Given the description of an element on the screen output the (x, y) to click on. 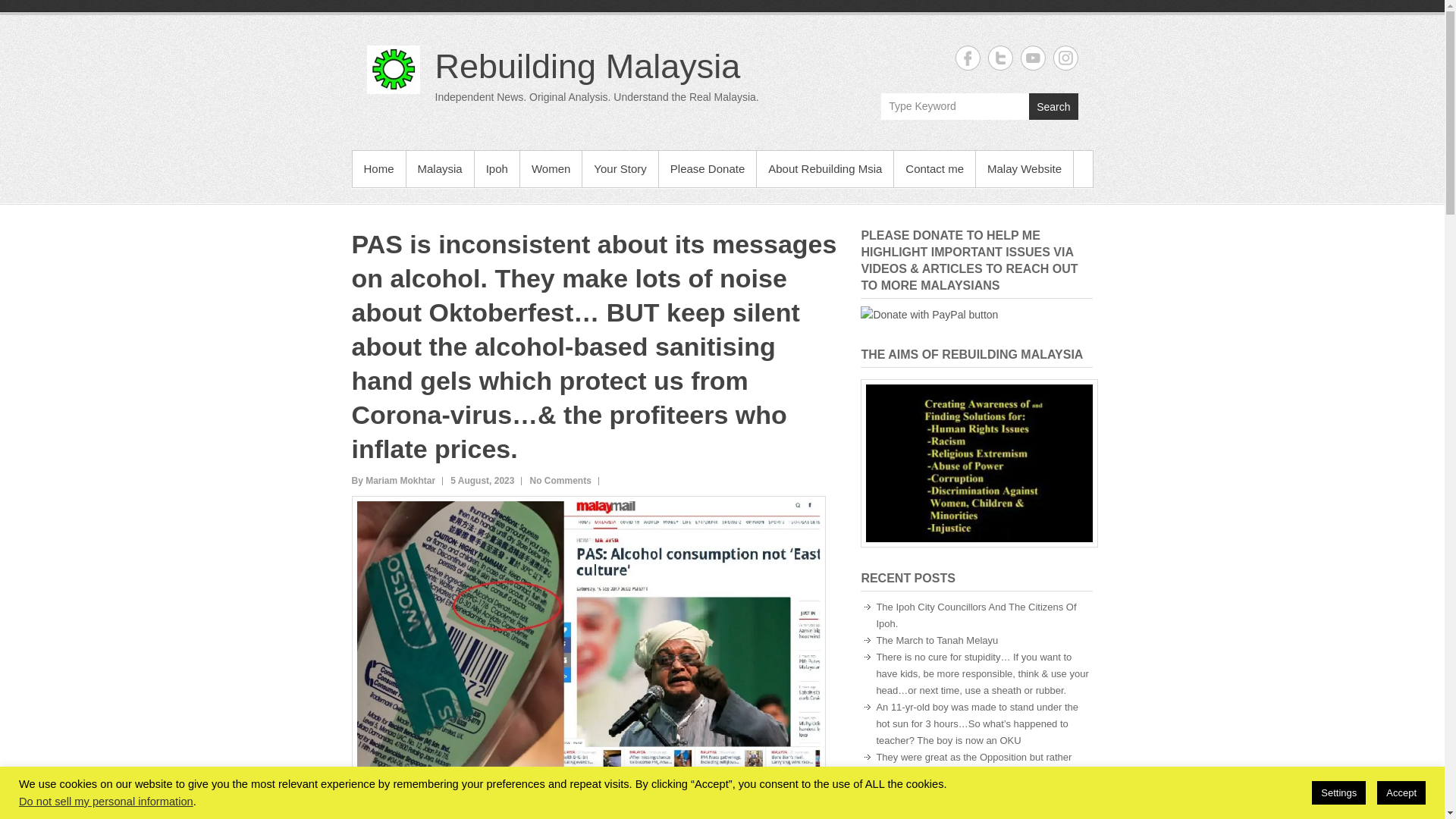
Rebuilding Malaysia Facebook (967, 57)
Rebuilding Malaysia YouTube (1032, 57)
Women (549, 168)
PayPal - The safer, easier way to pay online! (928, 314)
Type Keyword (955, 105)
Type Keyword (955, 105)
Malaysia (440, 168)
Home (378, 168)
Rebuilding Malaysia Instagram (1064, 57)
Search (1053, 106)
Type Keyword (955, 105)
Rebuilding Malaysia on Instagram (1064, 57)
Rebuilding Malaysia on YouTube (1032, 57)
Rebuilding Malaysia on Facebook (967, 57)
Please Donate (707, 168)
